Given the description of an element on the screen output the (x, y) to click on. 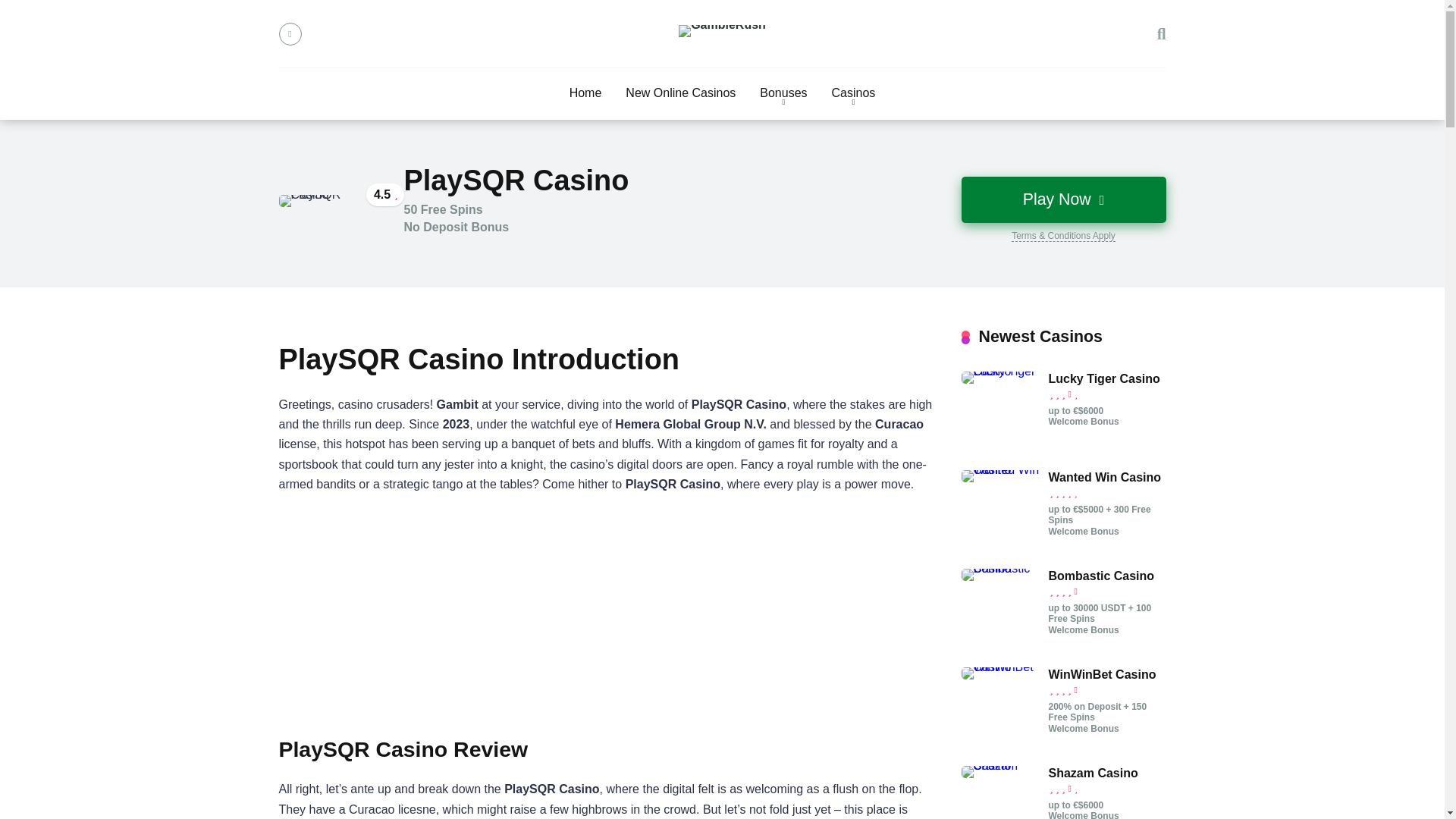
Twitter (290, 33)
Play Now (1063, 199)
Casinos (853, 93)
Bonuses (783, 93)
New Online Casinos (680, 93)
Play Now (1063, 199)
GambleRush (721, 30)
Home (585, 93)
